Given the description of an element on the screen output the (x, y) to click on. 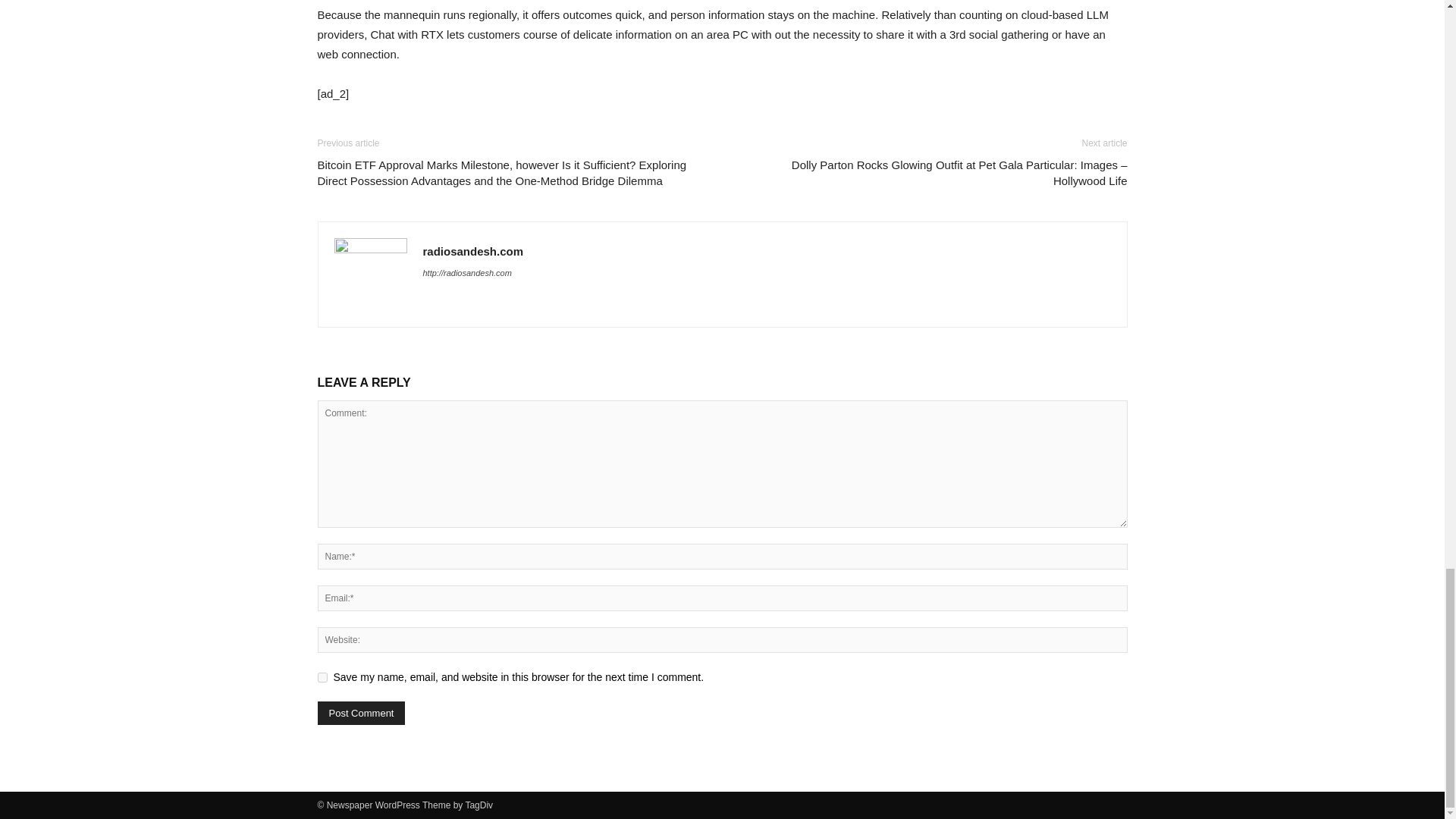
Post Comment (360, 712)
yes (321, 677)
